Given the description of an element on the screen output the (x, y) to click on. 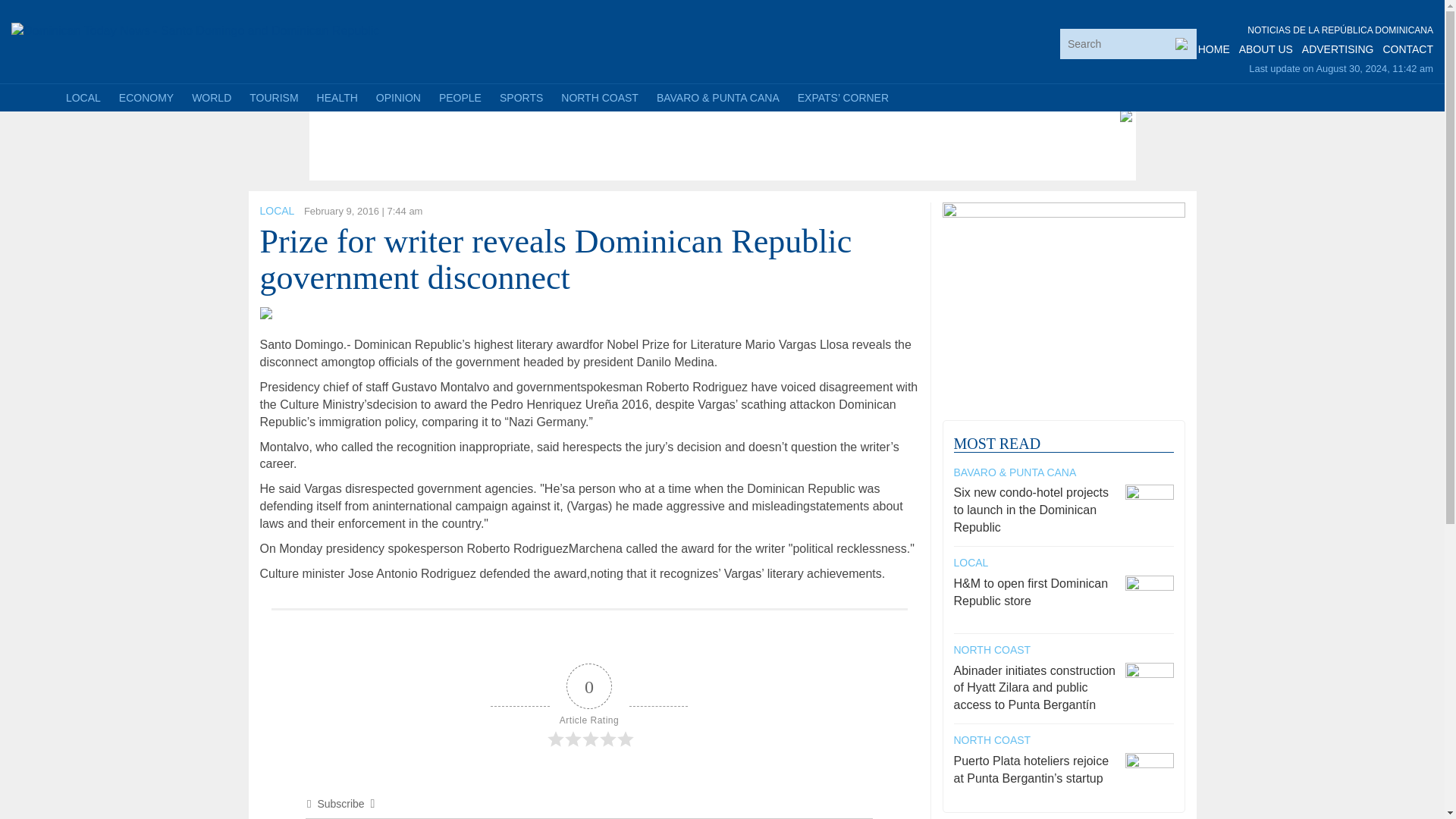
HEALTH (336, 97)
WORLD (211, 97)
ABOUT US (1265, 49)
ECONOMY (146, 97)
HOME (1214, 49)
PEOPLE (459, 97)
LOCAL (276, 210)
ADVERTISING (1337, 49)
SPORTS (520, 97)
LOCAL (83, 97)
